Given the description of an element on the screen output the (x, y) to click on. 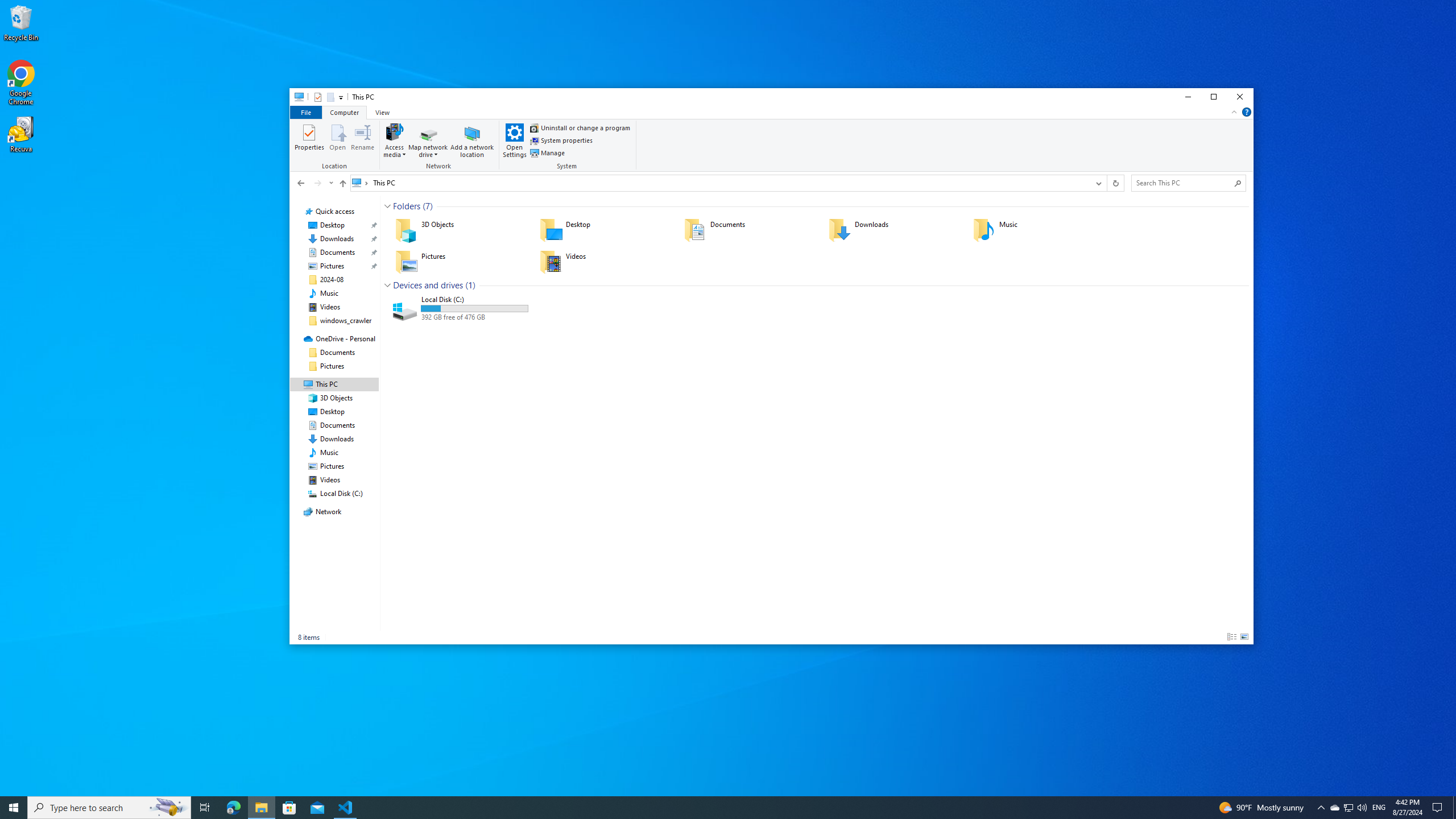
2024-08 (331, 279)
Details (1231, 636)
Back to 3D Objects (Alt + Left Arrow) (300, 182)
Pictures (pinned) (331, 265)
System properties (561, 140)
Open (337, 140)
Access media (394, 140)
Open Settings (515, 140)
File tab (305, 111)
Minimize (1187, 96)
